Given the description of an element on the screen output the (x, y) to click on. 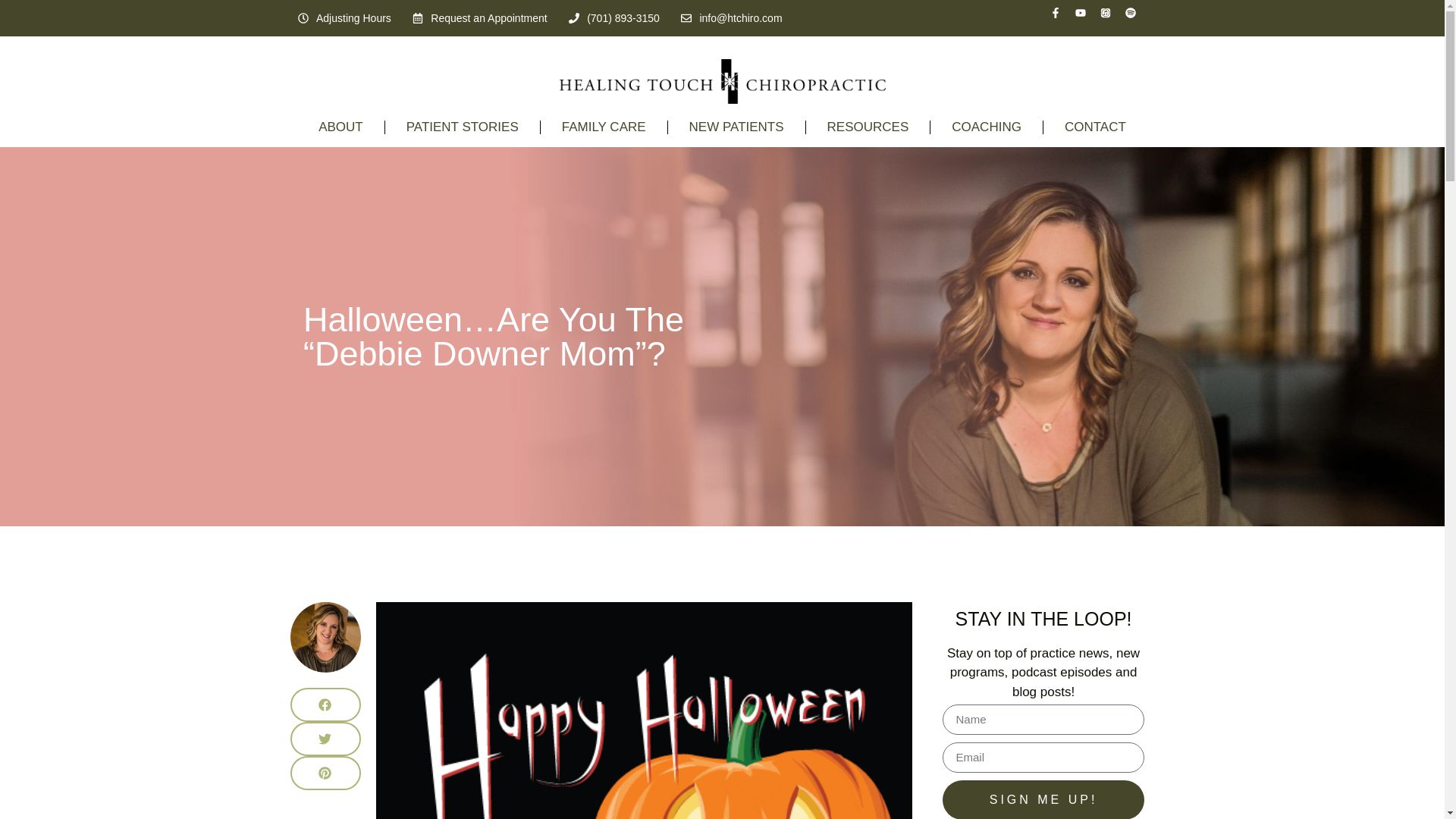
SIGN ME UP! (1042, 799)
NEW PATIENTS (736, 127)
PATIENT STORIES (462, 127)
Request an Appointment (479, 18)
FAMILY CARE (603, 127)
COACHING (986, 127)
RESOURCES (868, 127)
CONTACT (1095, 127)
Adjusting Hours (343, 18)
ABOUT (340, 127)
